Given the description of an element on the screen output the (x, y) to click on. 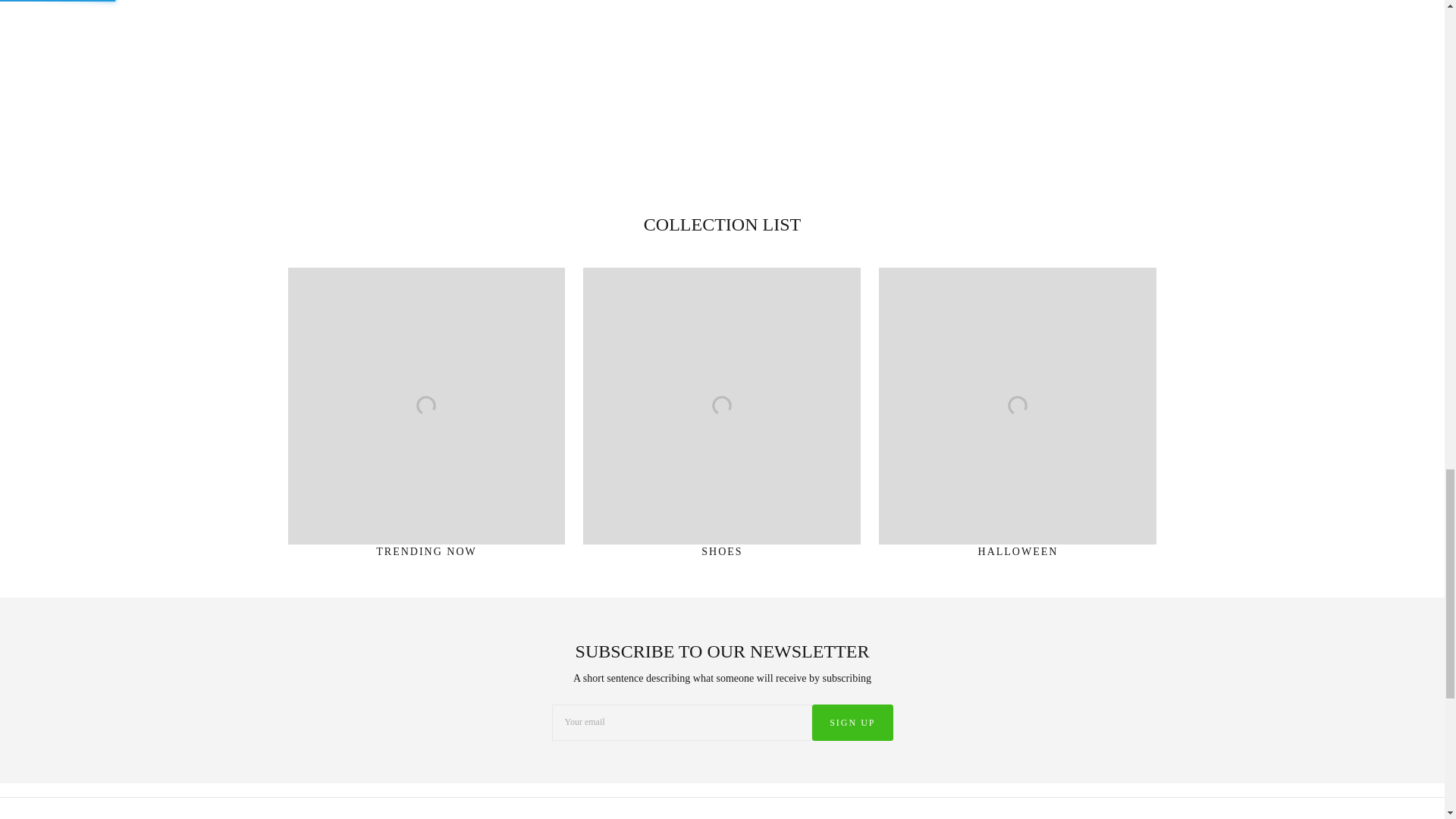
TRENDING NOW (427, 418)
SIGN UP (852, 722)
SHOES (721, 418)
HALLOWEEN (1017, 418)
